Given the description of an element on the screen output the (x, y) to click on. 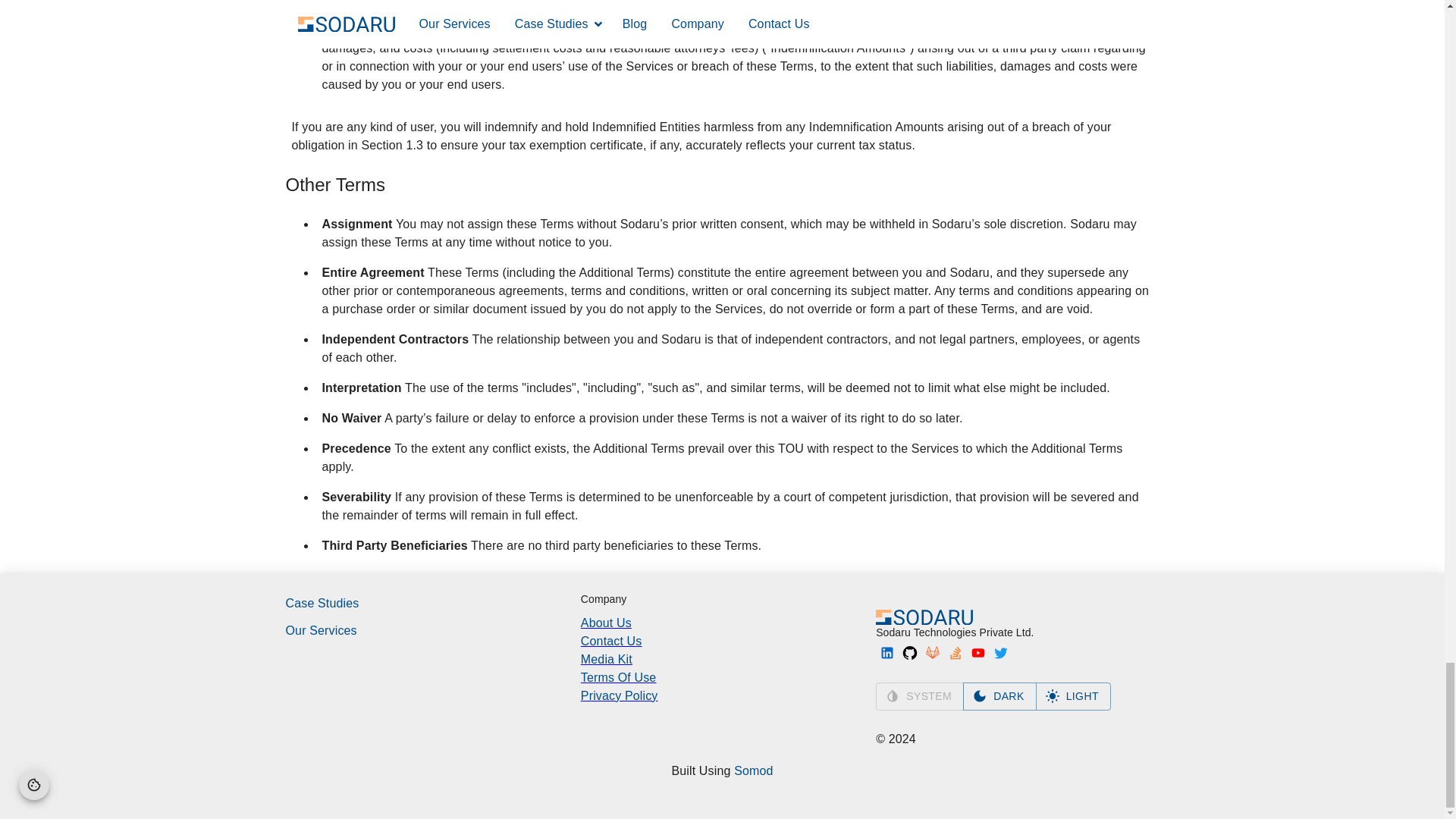
Contact Us (721, 641)
About Us (721, 623)
DARK (999, 696)
Media Kit (721, 659)
Case Studies (426, 603)
Terms Of Use (721, 678)
SYSTEM (919, 696)
Privacy Policy (721, 696)
Somod (753, 770)
Our Services (426, 630)
LIGHT (1072, 696)
